Given the description of an element on the screen output the (x, y) to click on. 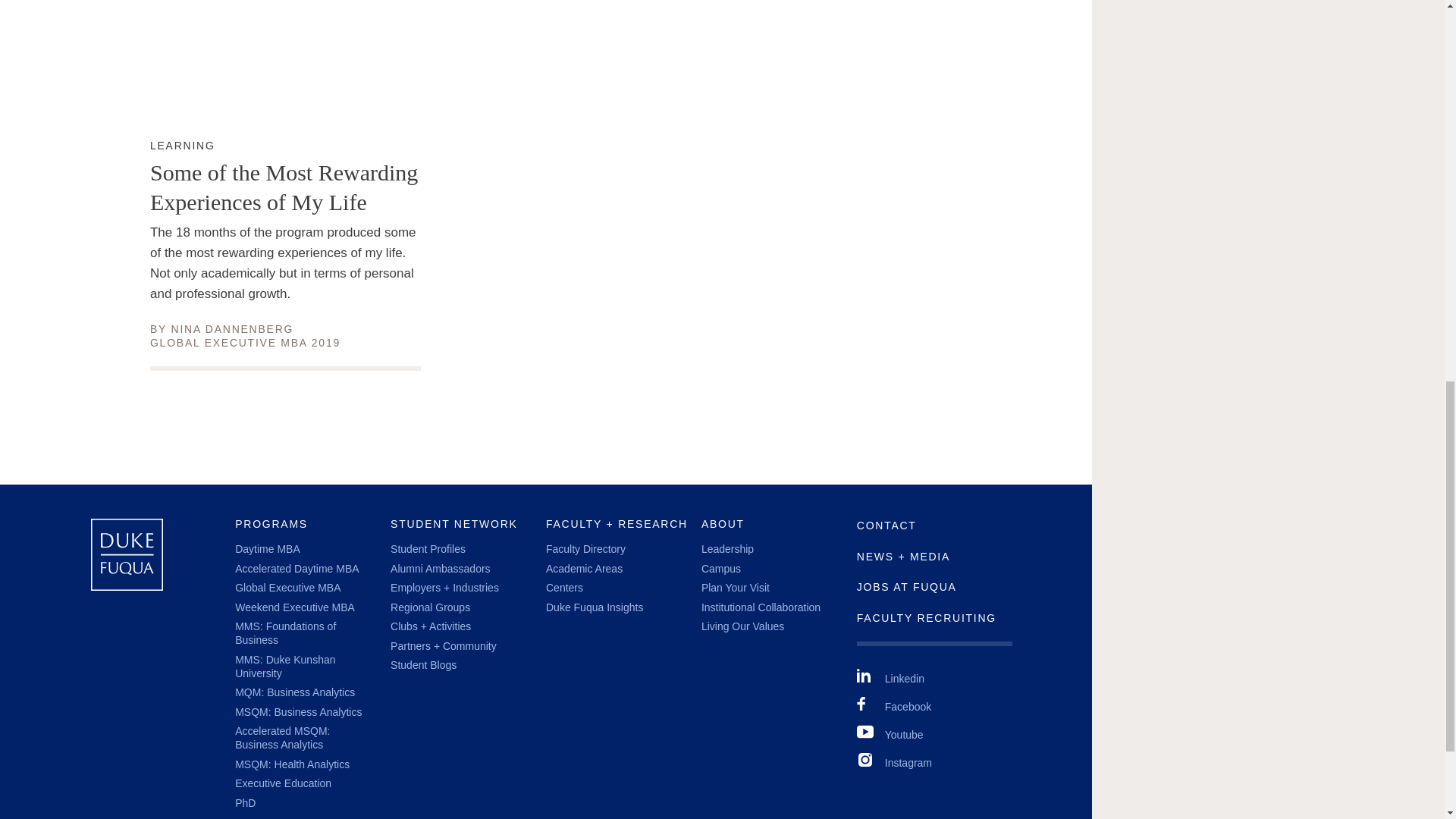
Centers (564, 587)
Executive Education (282, 783)
Faculty Directory (586, 548)
Accelerated Daytime MBA (296, 568)
MSQM: Health Analytics (291, 764)
Living Our Values (232, 328)
MMS: Duke Kunshan University (742, 625)
Alumni Ambassadors (284, 666)
Weekend Executive MBA (440, 568)
Plan Your Visit (294, 607)
Institutional Collaboration (735, 587)
Regional Groups (761, 607)
Student Blogs (430, 607)
Leadership (423, 664)
